Given the description of an element on the screen output the (x, y) to click on. 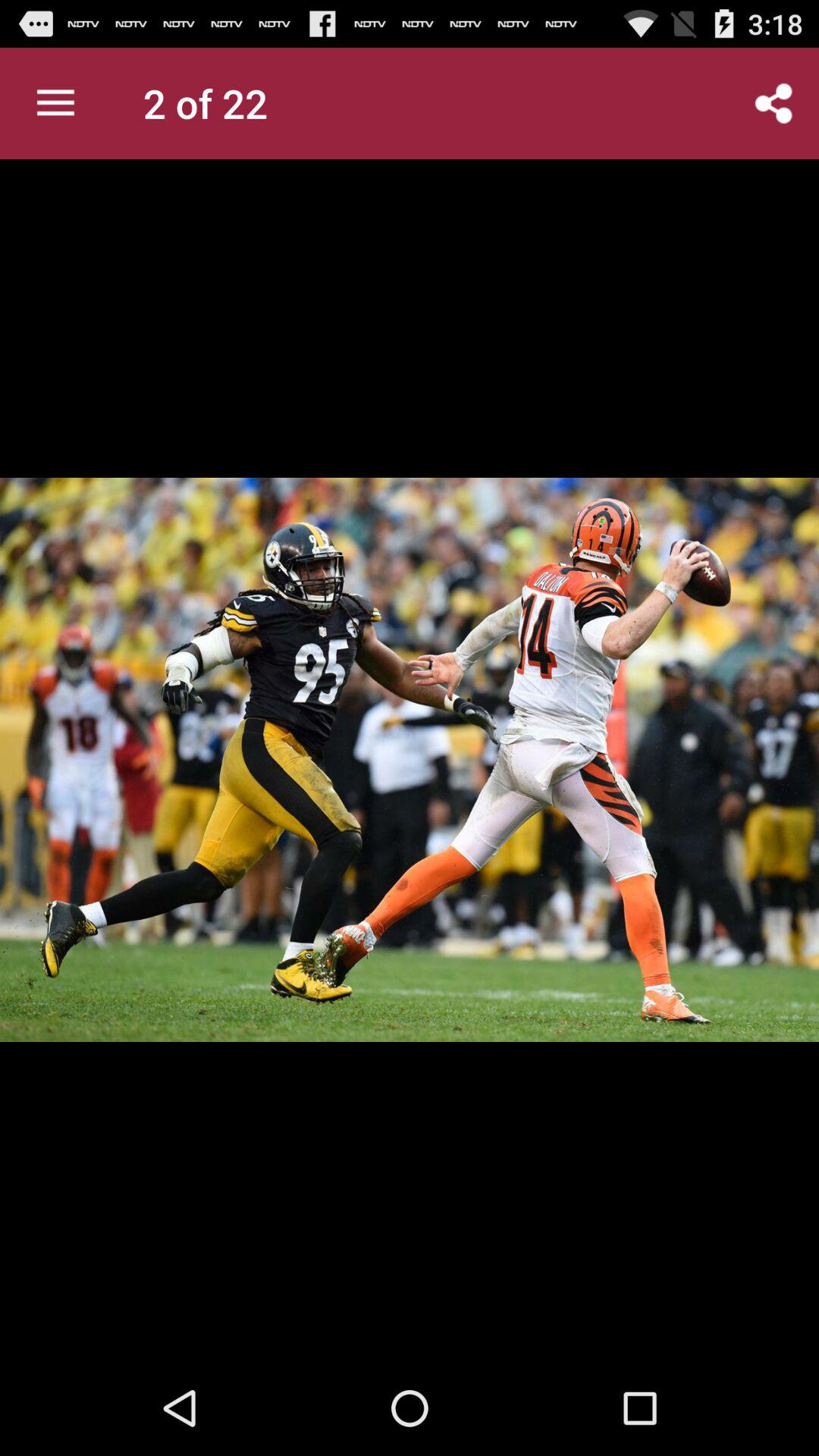
click the item at the center (409, 759)
